Given the description of an element on the screen output the (x, y) to click on. 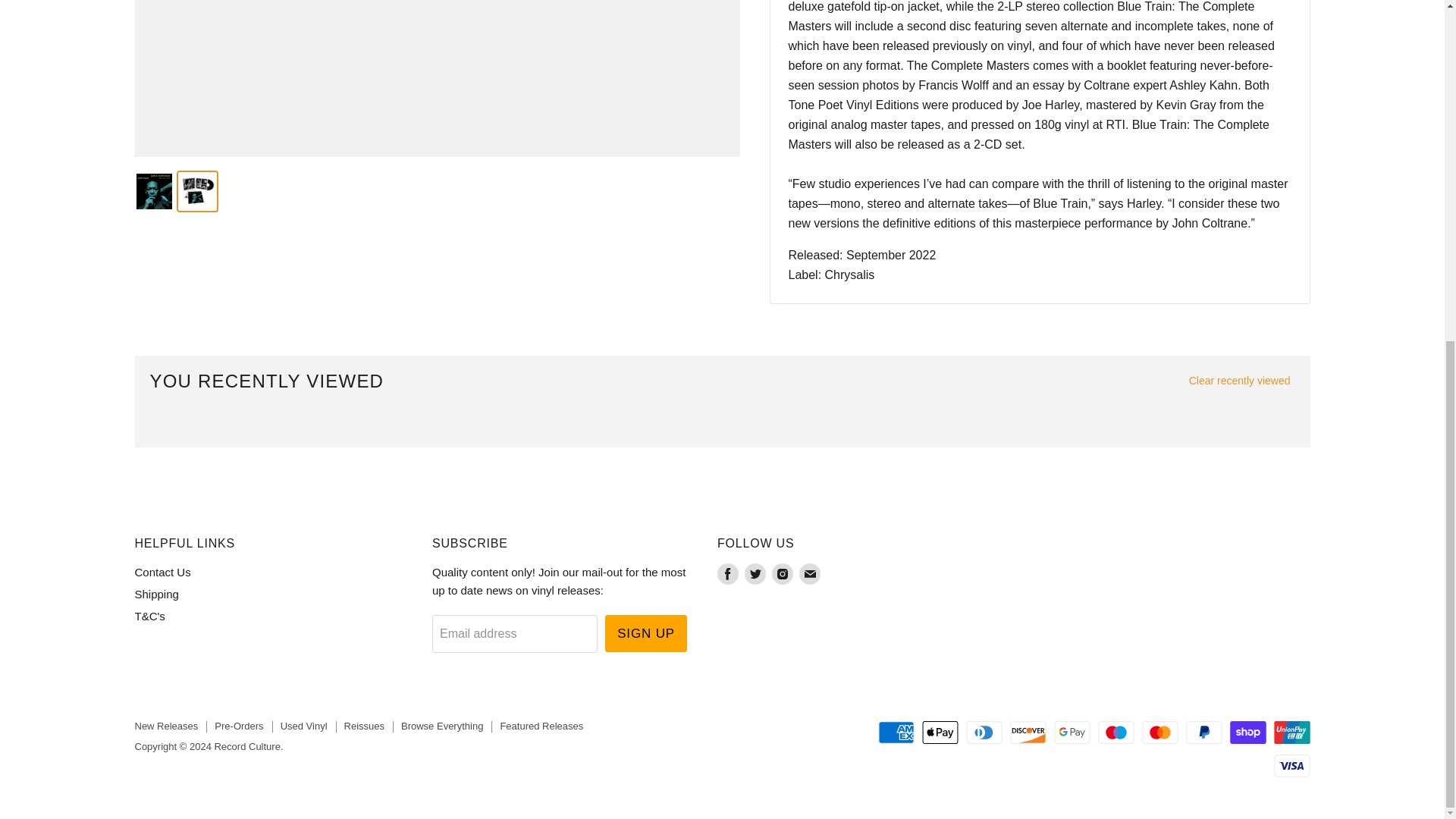
E-mail (810, 574)
Apple Pay (939, 732)
Instagram (782, 574)
Facebook (727, 574)
Discover (1028, 732)
Google Pay (1072, 732)
Twitter (754, 574)
American Express (895, 732)
Maestro (1115, 732)
Diners Club (984, 732)
